Given the description of an element on the screen output the (x, y) to click on. 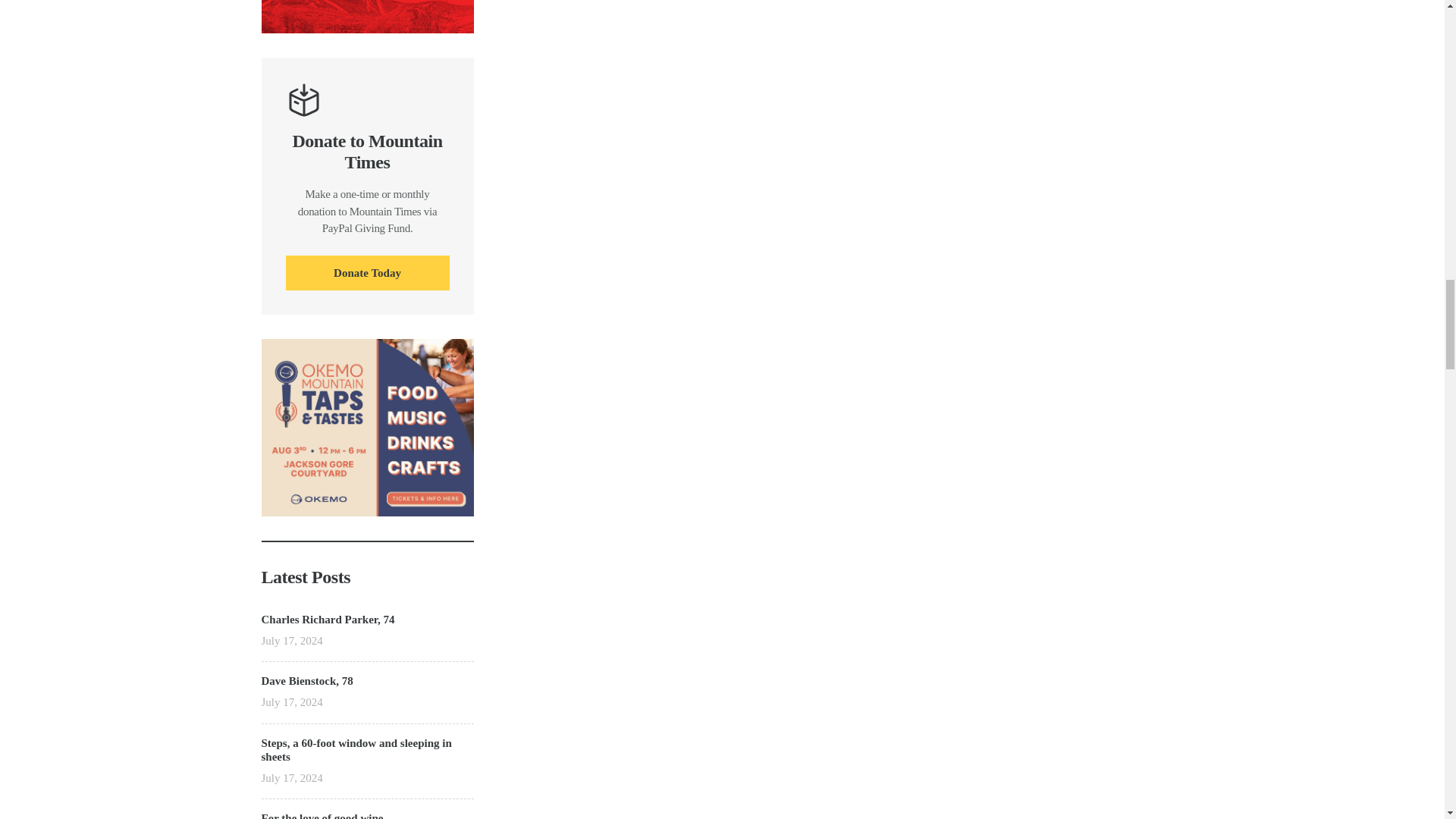
Donate Today (366, 273)
